Given the description of an element on the screen output the (x, y) to click on. 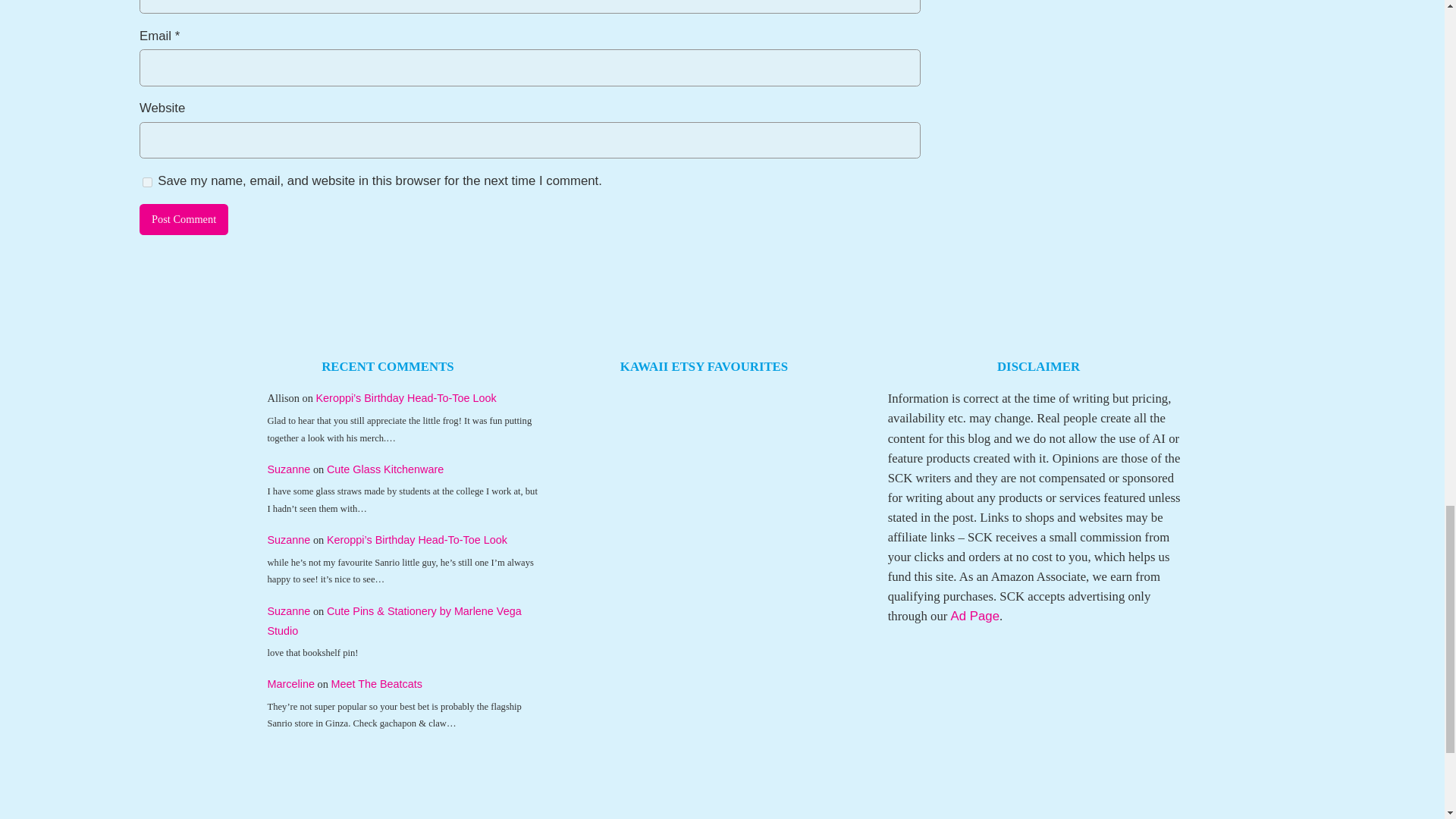
Post Comment (183, 219)
